Given the description of an element on the screen output the (x, y) to click on. 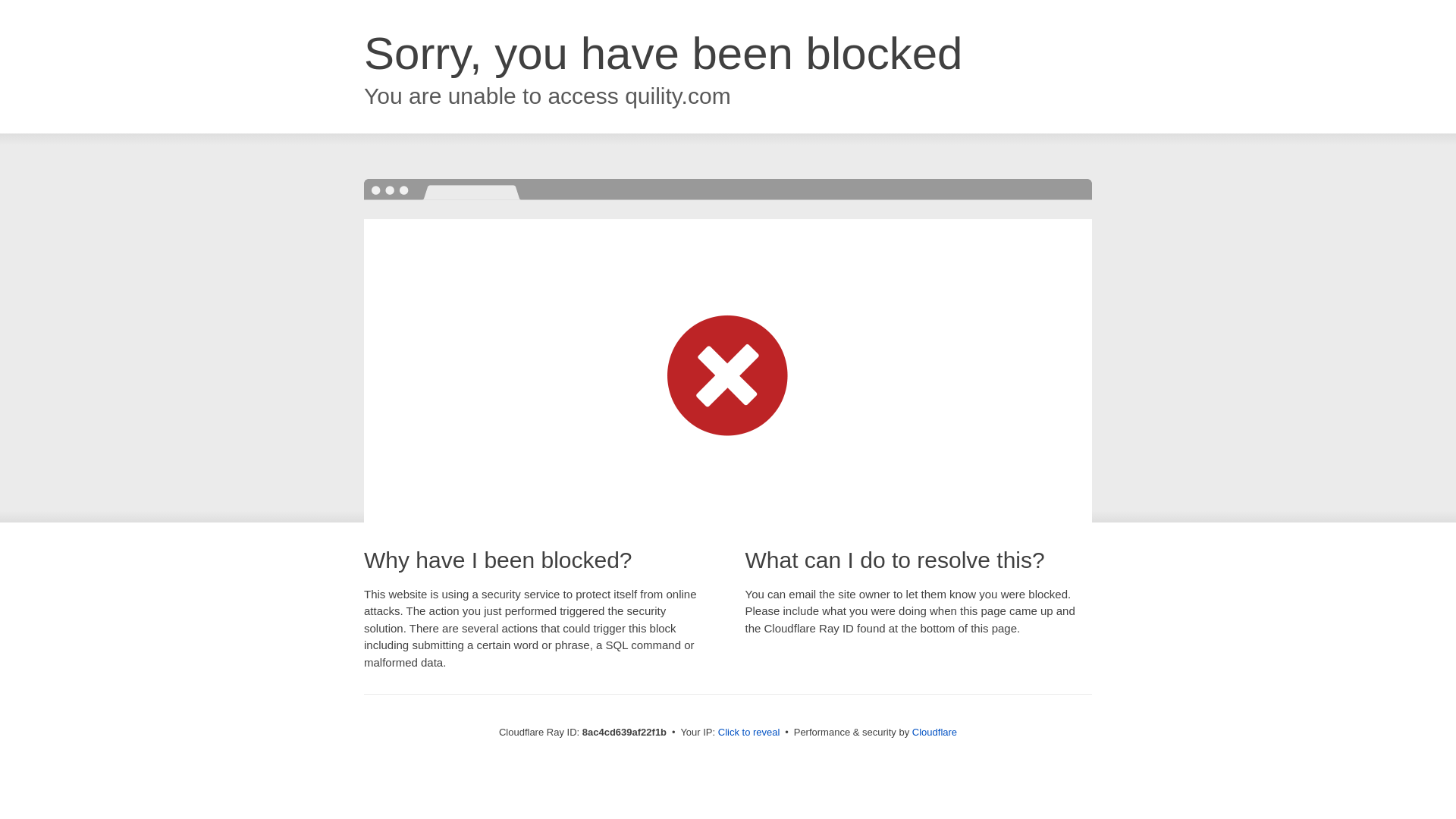
Cloudflare (934, 731)
Click to reveal (748, 732)
